Given the description of an element on the screen output the (x, y) to click on. 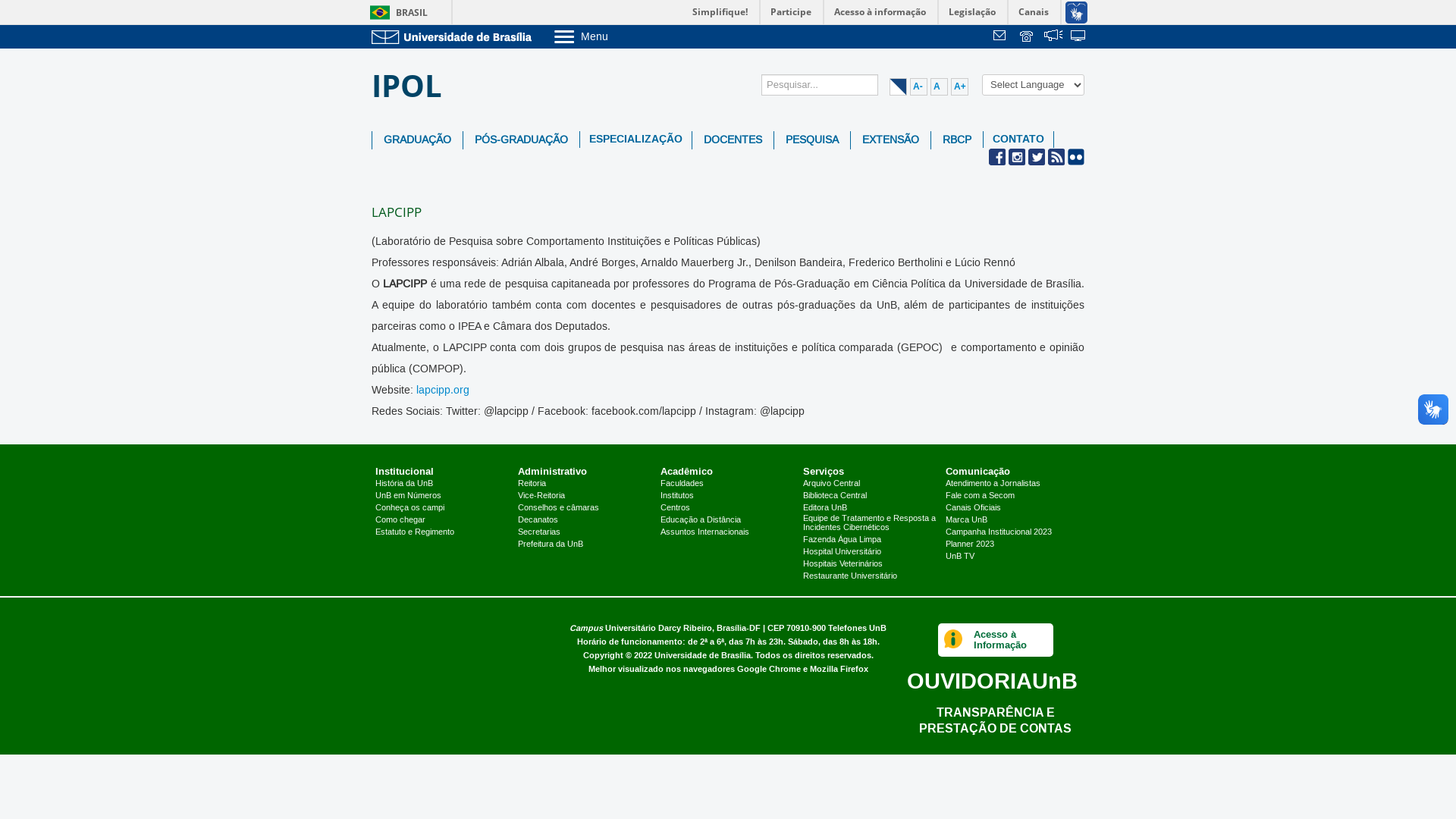
  Element type: text (1027, 37)
Como chegar Element type: text (400, 519)
Atendimento a Jornalistas Element type: text (992, 483)
Arquivo Central Element type: text (831, 483)
Biblioteca Central Element type: text (834, 495)
Estatuto e Regimento Element type: text (414, 531)
OUVIDORIAUnB Element type: text (991, 680)
  Element type: text (1079, 37)
A- Element type: text (918, 86)
IPOL Element type: text (412, 85)
Prefeitura da UnB Element type: text (550, 544)
Fala.BR Element type: hover (1053, 37)
lapcipp.org Element type: text (442, 390)
Centros Element type: text (675, 507)
  Element type: text (1053, 37)
Vice-Reitoria Element type: text (540, 495)
Reitoria Element type: text (531, 483)
A Element type: text (938, 86)
Decanatos Element type: text (537, 519)
  Element type: text (1001, 37)
Campanha Institucional 2023 Element type: text (998, 531)
Fale com a Secom Element type: text (979, 495)
Editora UnB Element type: text (825, 507)
Faculdades Element type: text (681, 483)
Telefones da UnB Element type: hover (1027, 37)
Marca UnB Element type: text (966, 519)
BRASIL Element type: text (396, 12)
Sistemas Element type: hover (1079, 37)
Institutos Element type: text (676, 495)
Assuntos Internacionais Element type: text (704, 531)
UnB TV Element type: text (959, 556)
Planner 2023 Element type: text (969, 544)
Telefones UnB Element type: text (857, 627)
A+ Element type: text (959, 86)
Ir para o Portal da UnB Element type: hover (454, 36)
Webmail Element type: hover (1001, 37)
CONTATO Element type: text (1018, 139)
Secretarias Element type: text (538, 531)
Canais Oficiais Element type: text (973, 507)
Menu Element type: text (619, 35)
